Given the description of an element on the screen output the (x, y) to click on. 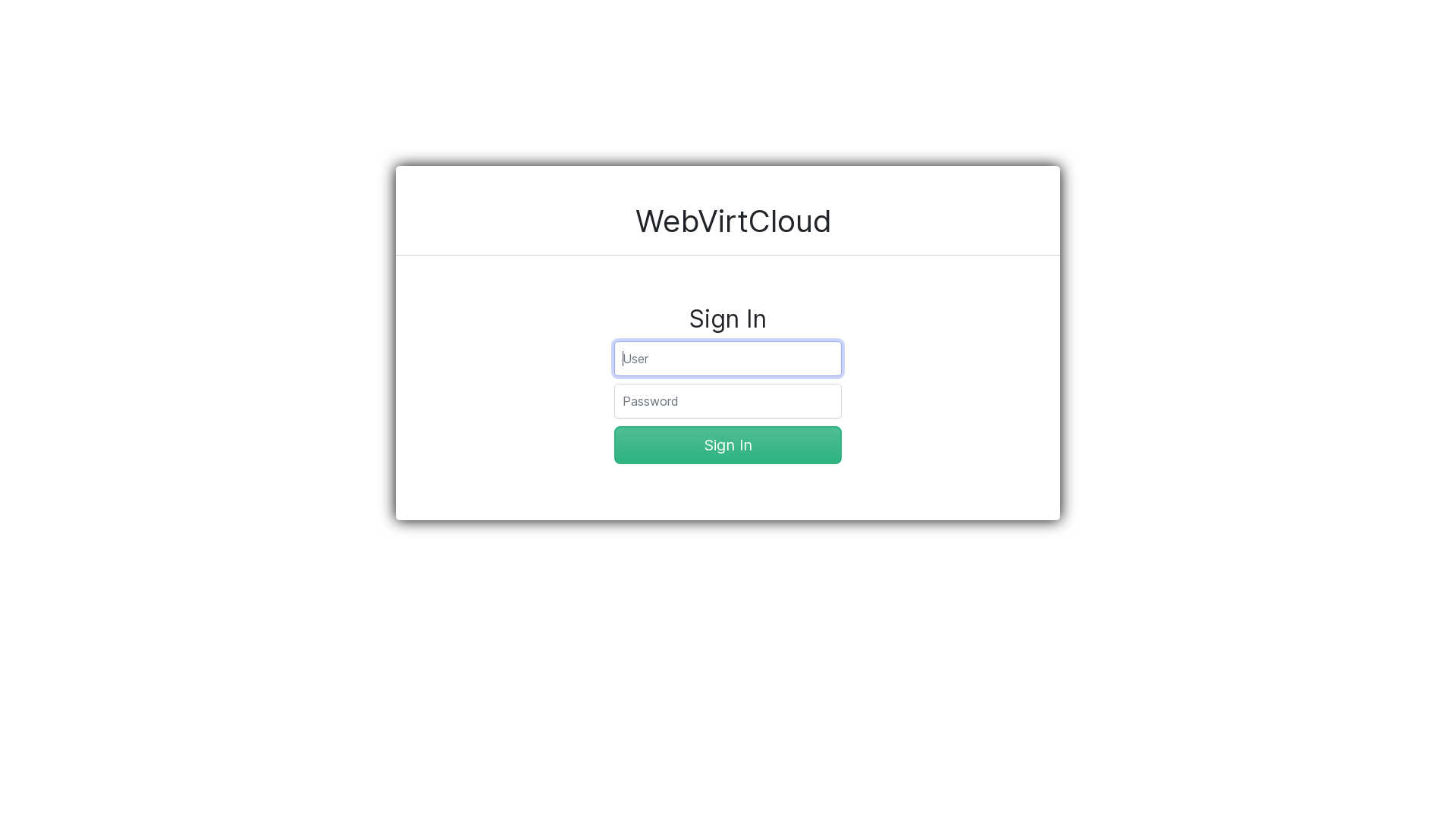
Sign In Element type: text (727, 445)
WebVirtCloud Element type: text (733, 221)
